Given the description of an element on the screen output the (x, y) to click on. 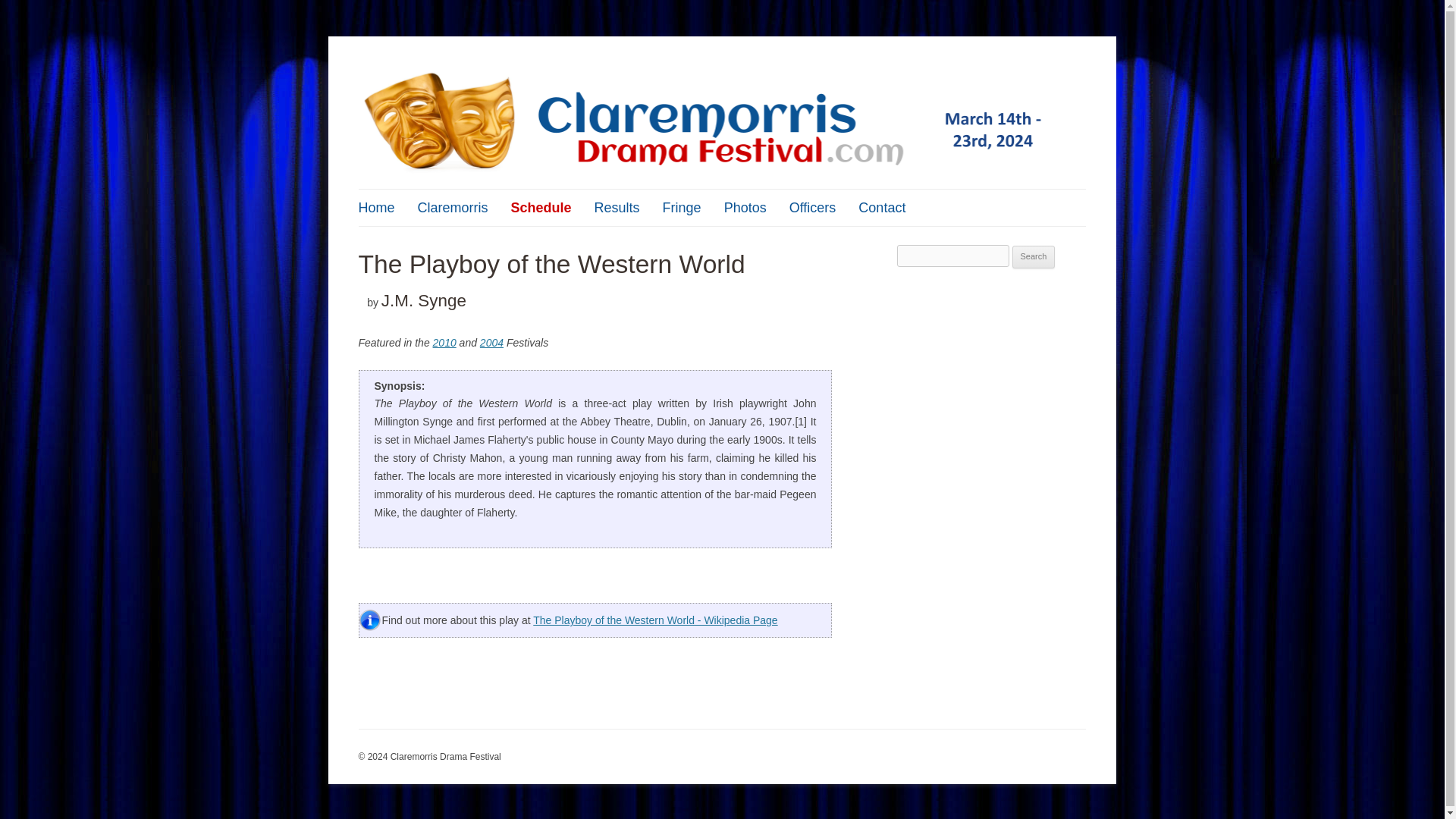
Claremorris Drama Festival (486, 72)
Photos (745, 207)
Home (376, 207)
2004 (491, 342)
Results (617, 207)
Search (1033, 256)
Claremorris (452, 207)
Skip to content (757, 194)
The Playboy of the Western World - Wikipedia Page (654, 620)
Fringe (681, 207)
